Given the description of an element on the screen output the (x, y) to click on. 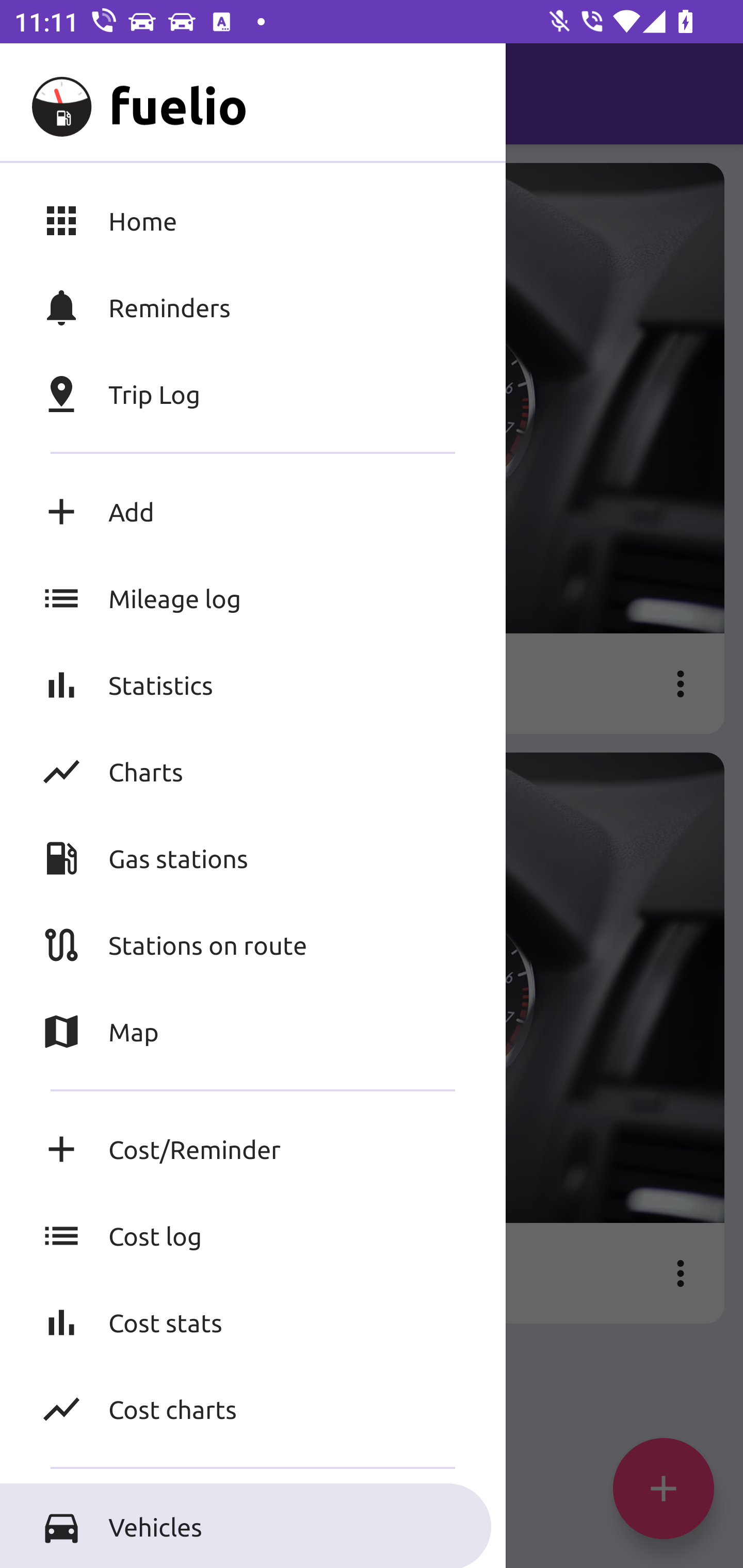
MenuDrawer (50, 93)
Home (252, 220)
Reminders (252, 307)
Trip Log (252, 394)
Add (252, 511)
Mileage log (252, 598)
Statistics (252, 684)
Charts (252, 771)
Gas stations (252, 858)
Stations on route (252, 944)
Map (252, 1031)
Cost/Reminder (252, 1149)
Cost log (252, 1236)
Cost stats (252, 1322)
Cost charts (252, 1408)
Vehicles (252, 1525)
